Given the description of an element on the screen output the (x, y) to click on. 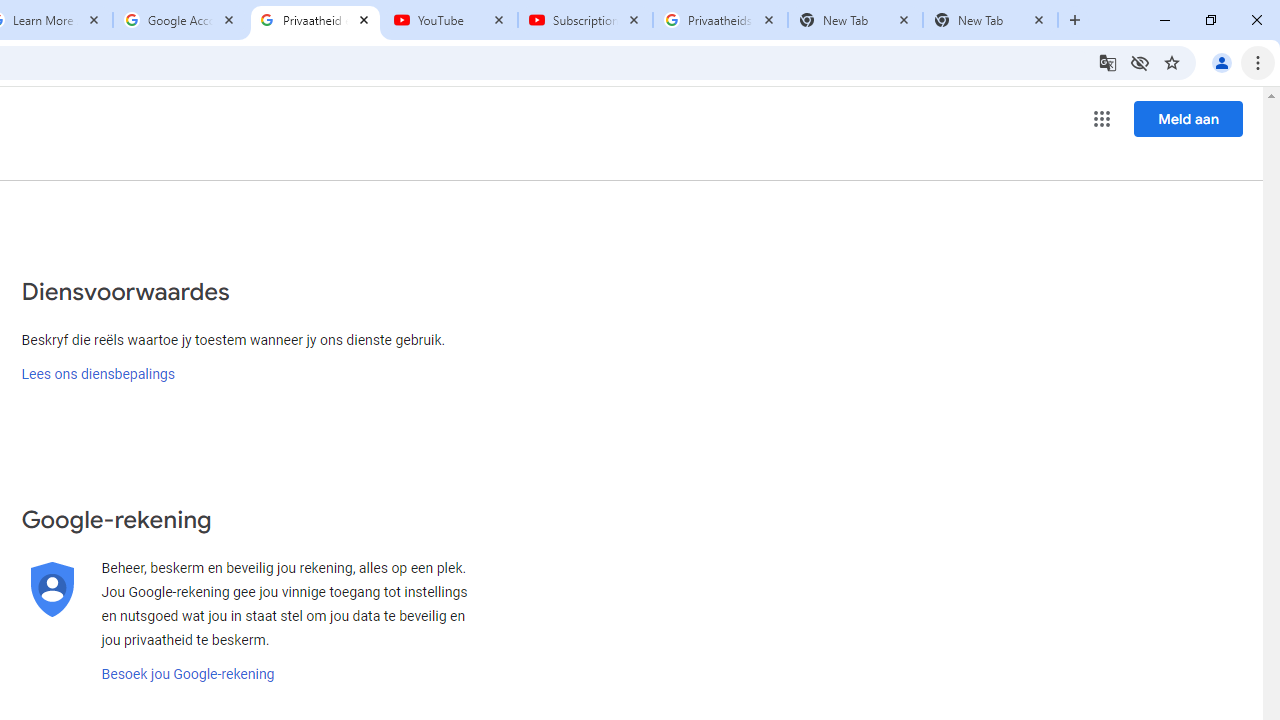
Google-programme (1101, 118)
Meld aan (1188, 118)
Lees ons diensbepalings (97, 374)
